Given the description of an element on the screen output the (x, y) to click on. 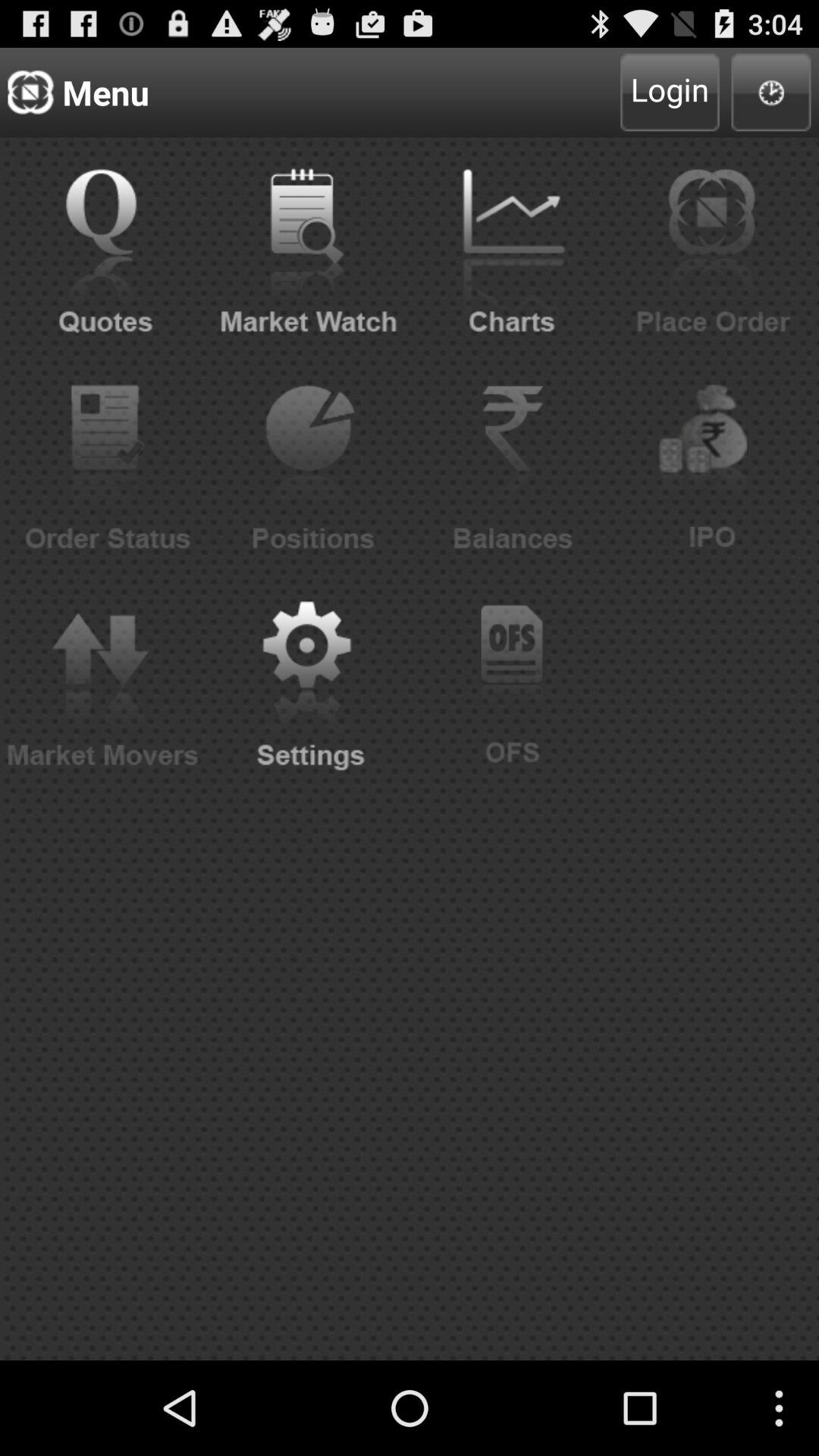
click the icon to the right of login item (771, 92)
